Given the description of an element on the screen output the (x, y) to click on. 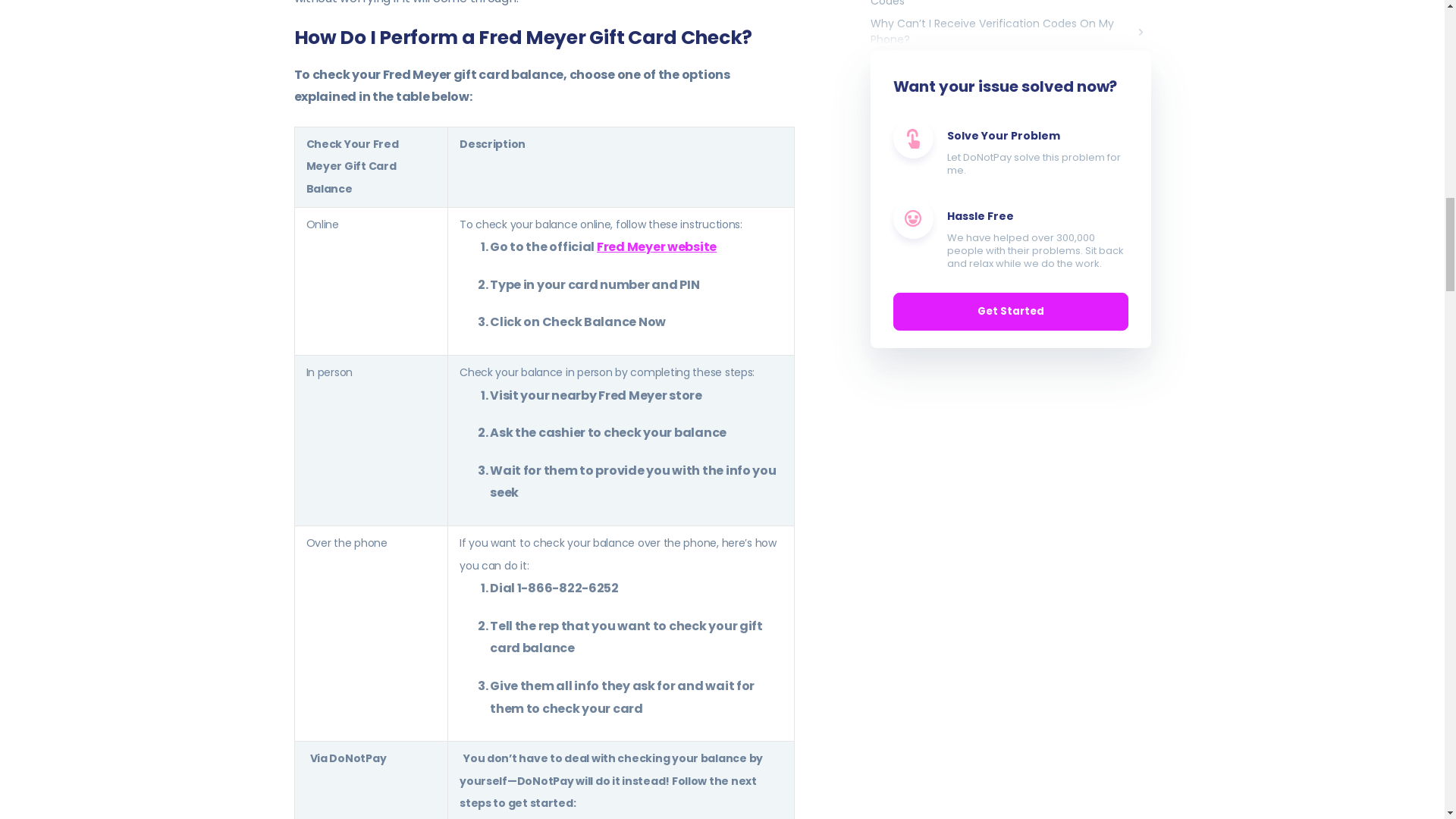
Fred Meyer website (656, 246)
Sign up for DoNotPay (557, 817)
